Given the description of an element on the screen output the (x, y) to click on. 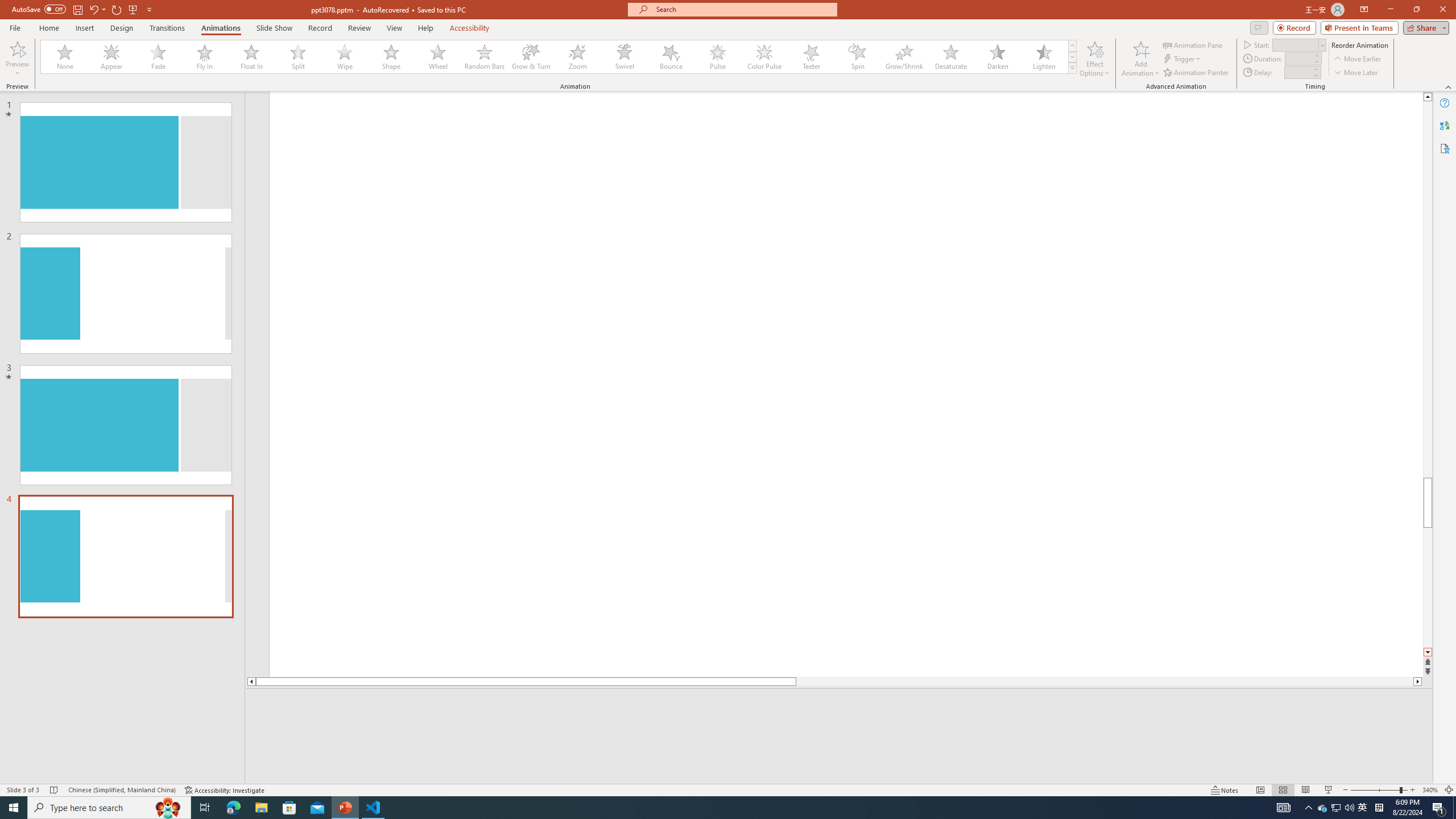
Grow/Shrink (903, 56)
Animation Pane (1193, 44)
Appear (111, 56)
Desaturate (950, 56)
More (1315, 69)
Fly In (205, 56)
Fade (158, 56)
